Given the description of an element on the screen output the (x, y) to click on. 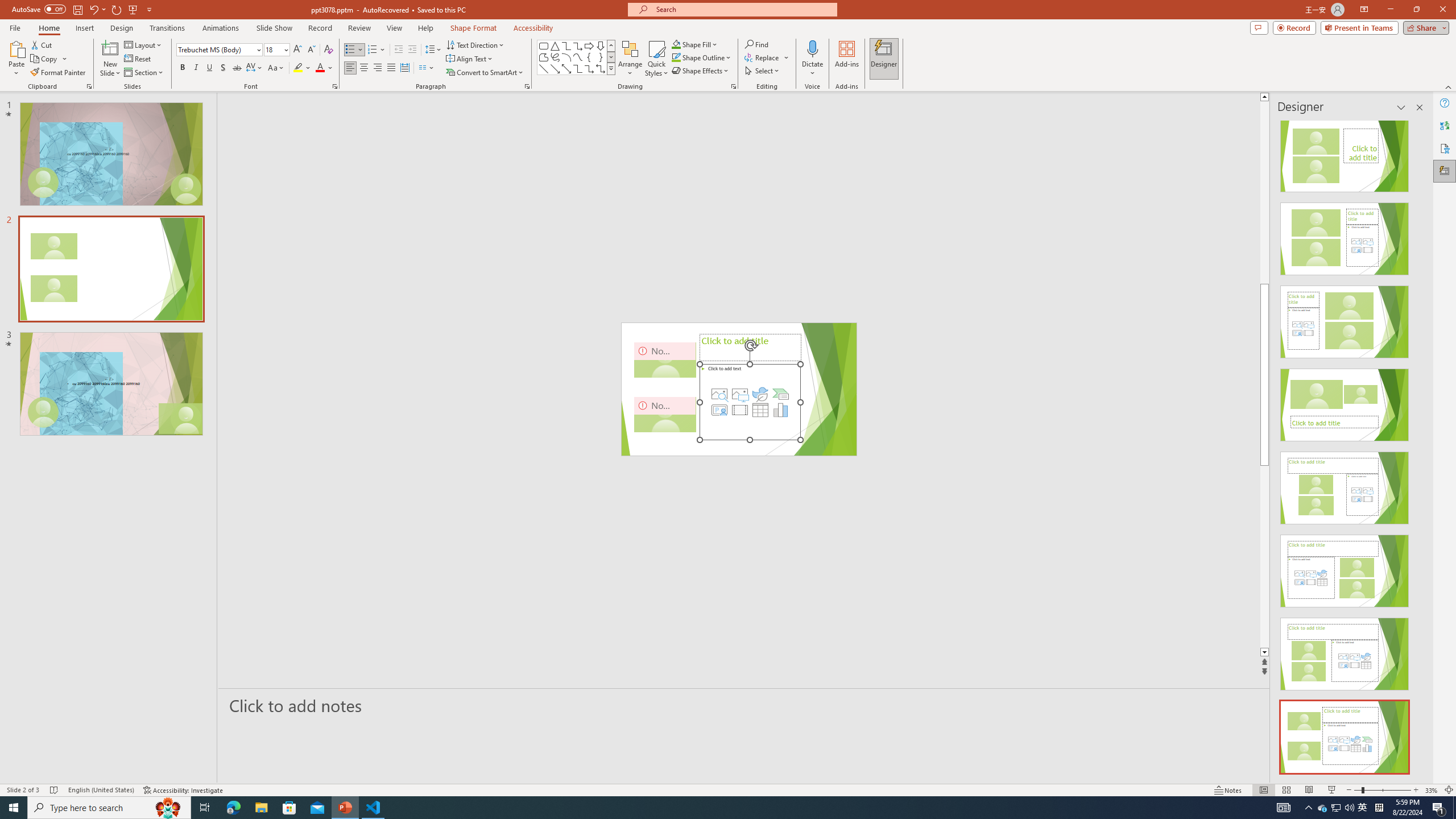
Insert an Icon (760, 394)
Content Placeholder (750, 401)
Insert Table (760, 409)
